Given the description of an element on the screen output the (x, y) to click on. 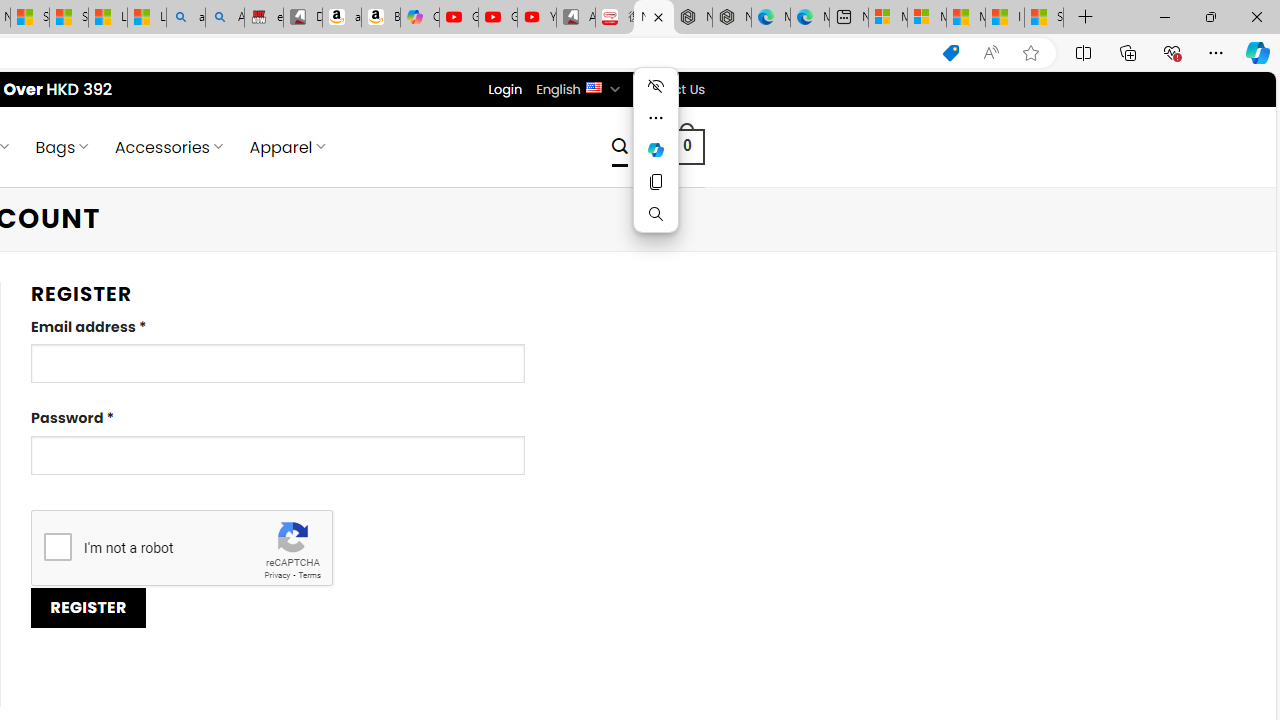
More actions (655, 117)
Minimize (1164, 16)
 0  (687, 146)
amazon - Search (185, 17)
Login (505, 89)
Contact Us (669, 89)
Search (619, 146)
Restore (1210, 16)
New tab (848, 17)
Nordace - Nordace has arrived Hong Kong (732, 17)
